Given the description of an element on the screen output the (x, y) to click on. 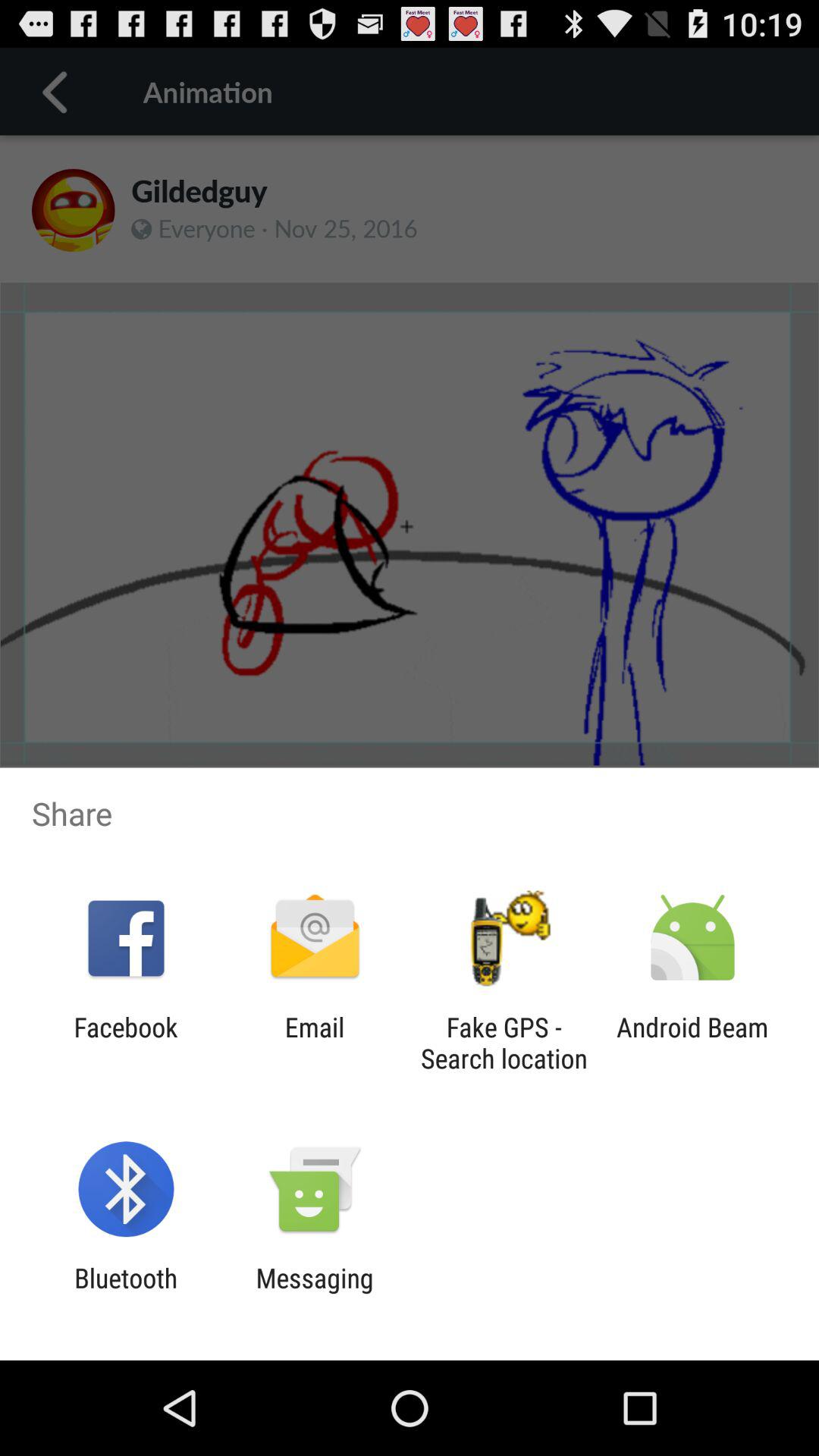
launch the android beam icon (692, 1042)
